Given the description of an element on the screen output the (x, y) to click on. 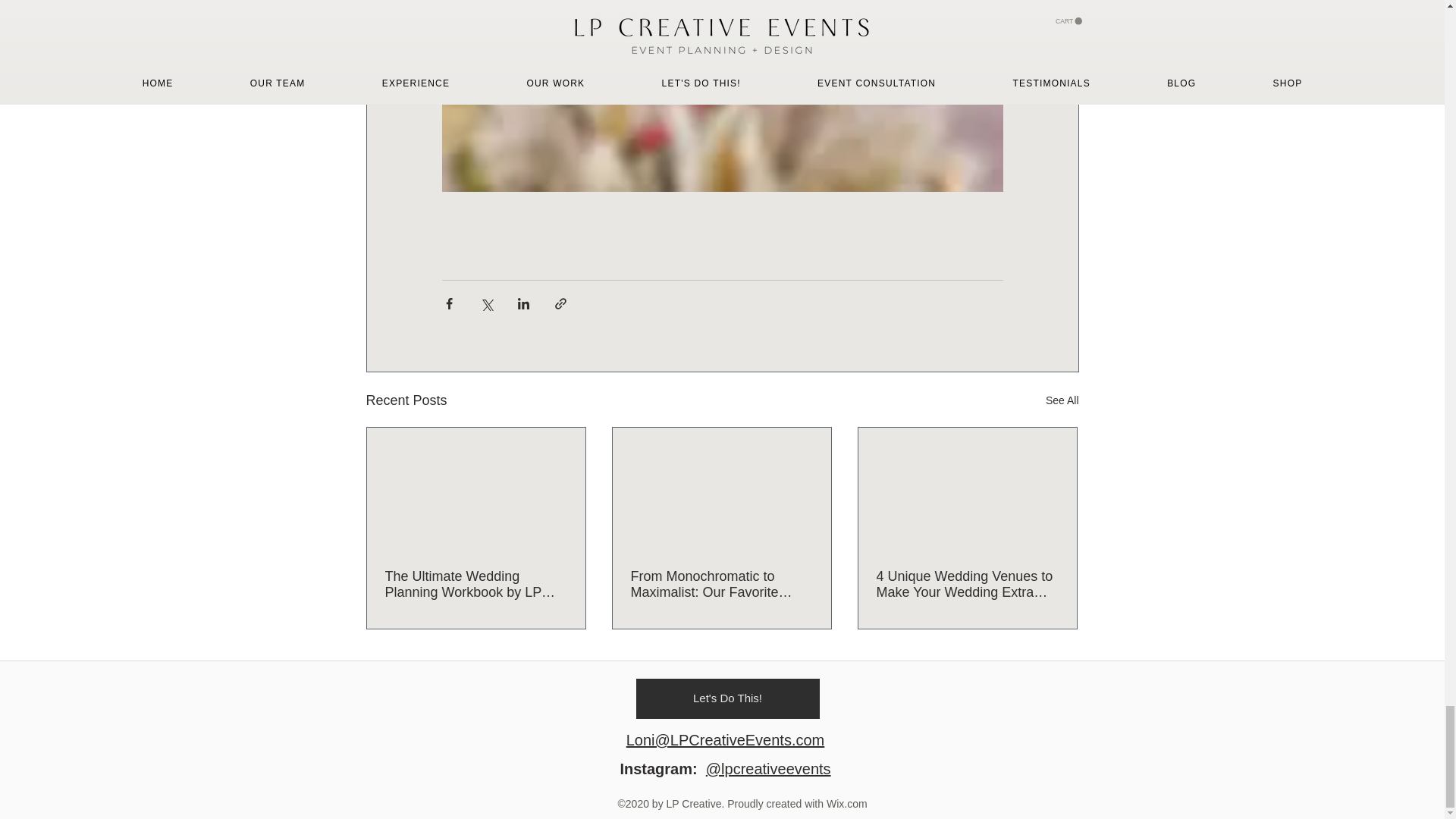
See All (1061, 400)
The Ultimate Wedding Planning Workbook by LP Creative Events (476, 584)
